Given the description of an element on the screen output the (x, y) to click on. 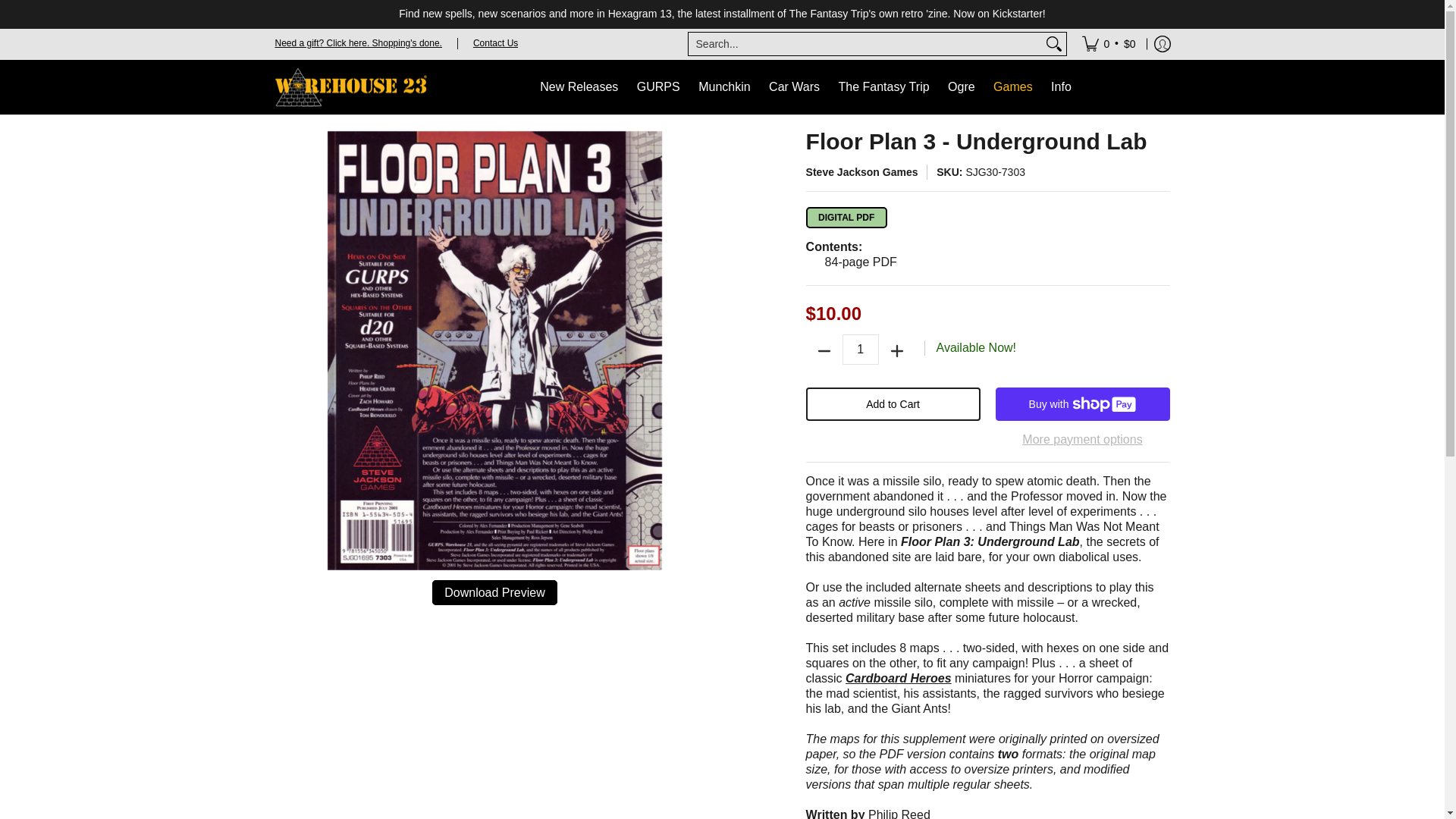
New Releases (579, 86)
Car Wars (794, 86)
Car Wars (794, 86)
GURPS (657, 86)
Log in (1161, 43)
Munchkin (723, 86)
Warehouse 23 (350, 86)
Cart (1108, 43)
Need a gift? Click here. Shopping's done. (358, 42)
The Fantasy Trip (884, 86)
Games (1013, 87)
The Fantasy Trip (884, 86)
GURPS (657, 86)
